Given the description of an element on the screen output the (x, y) to click on. 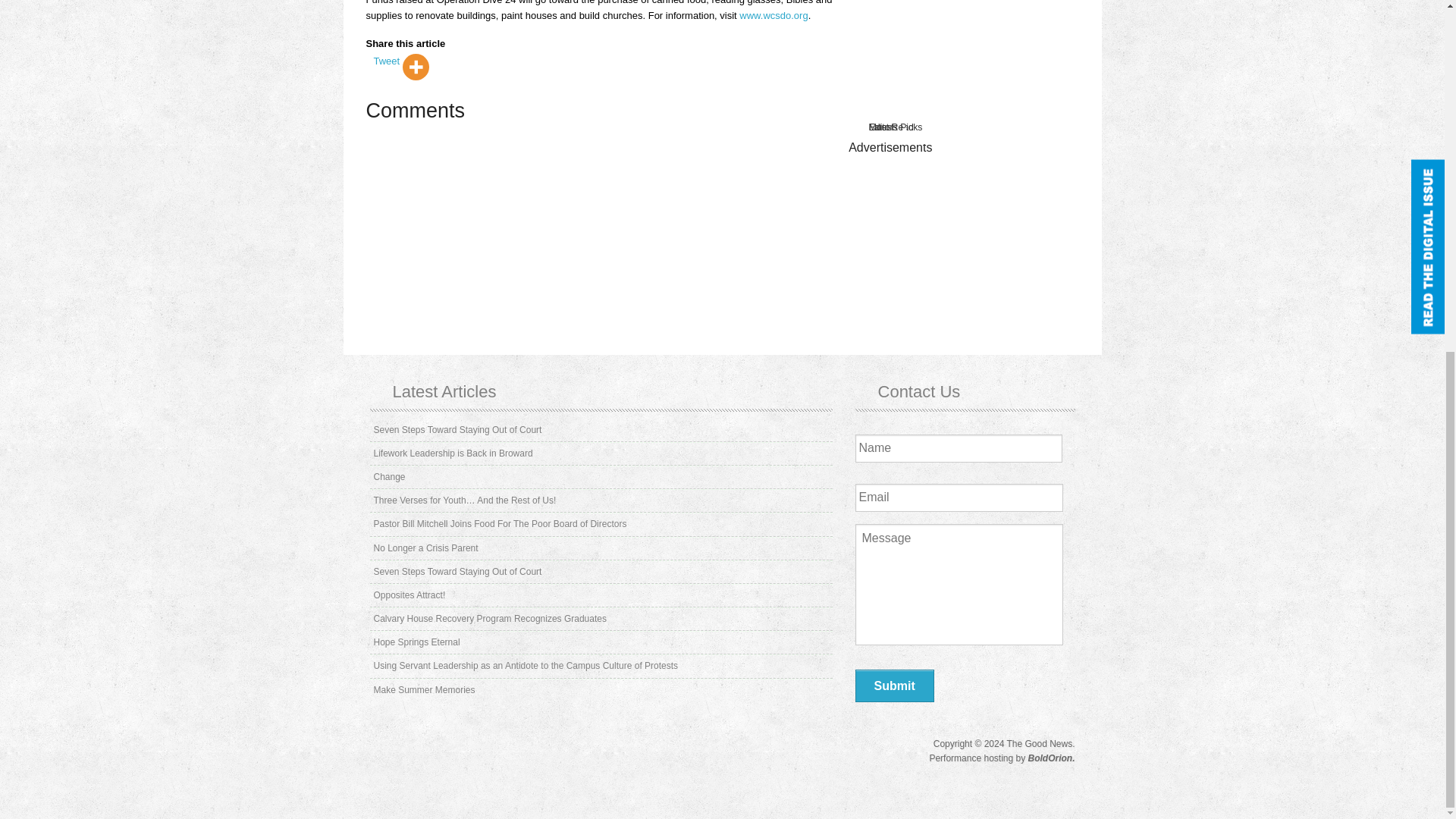
More (416, 67)
Submit (895, 685)
Advertisement (968, 248)
Advertisement (968, 49)
